Given the description of an element on the screen output the (x, y) to click on. 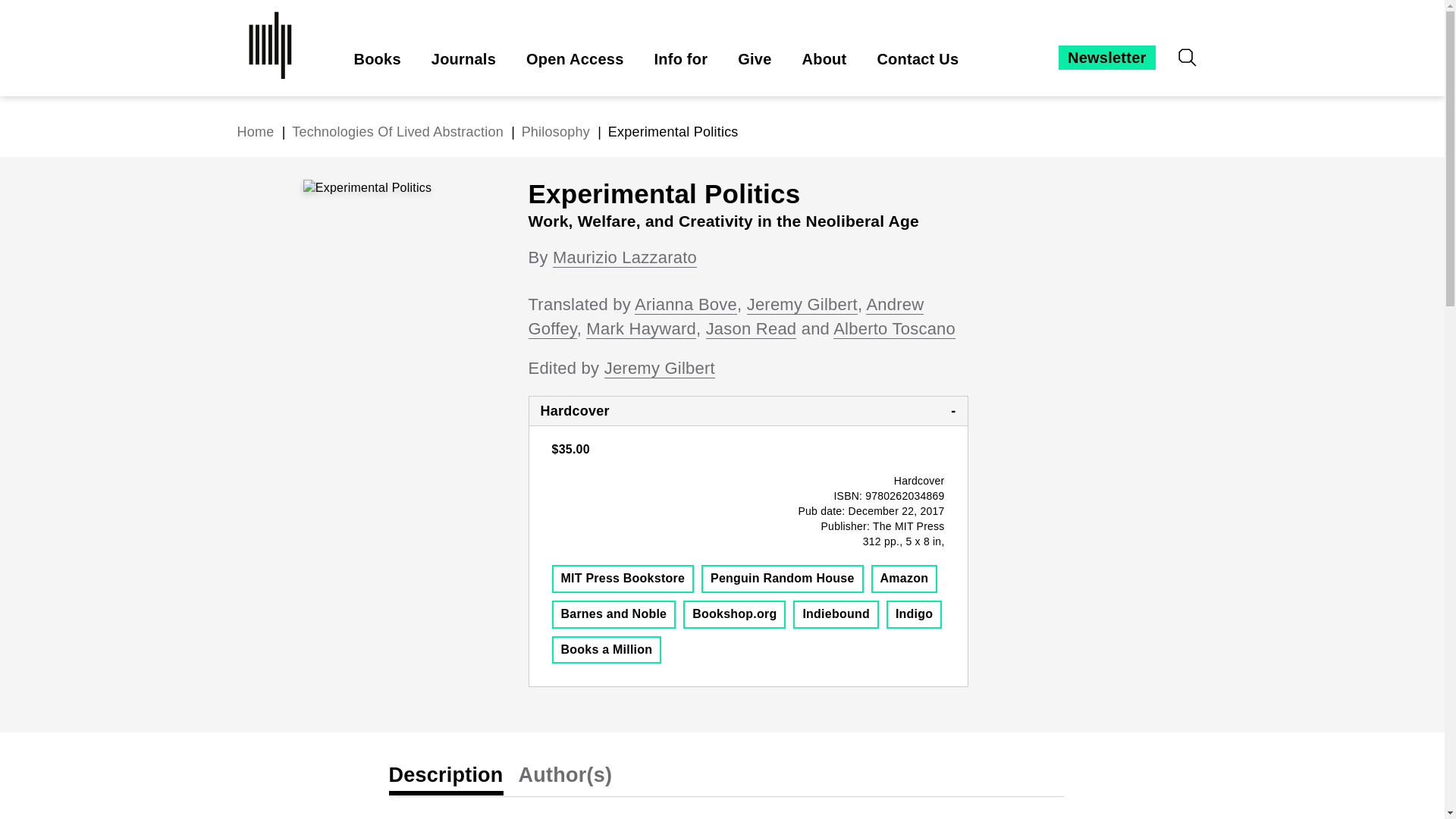
Open Access (574, 60)
Back to homepage (254, 131)
Books (376, 60)
Journals (463, 60)
View results for Technologies of Lived Abstraction (399, 131)
View results for philosophy (555, 131)
Newsletter (1106, 57)
